Given the description of an element on the screen output the (x, y) to click on. 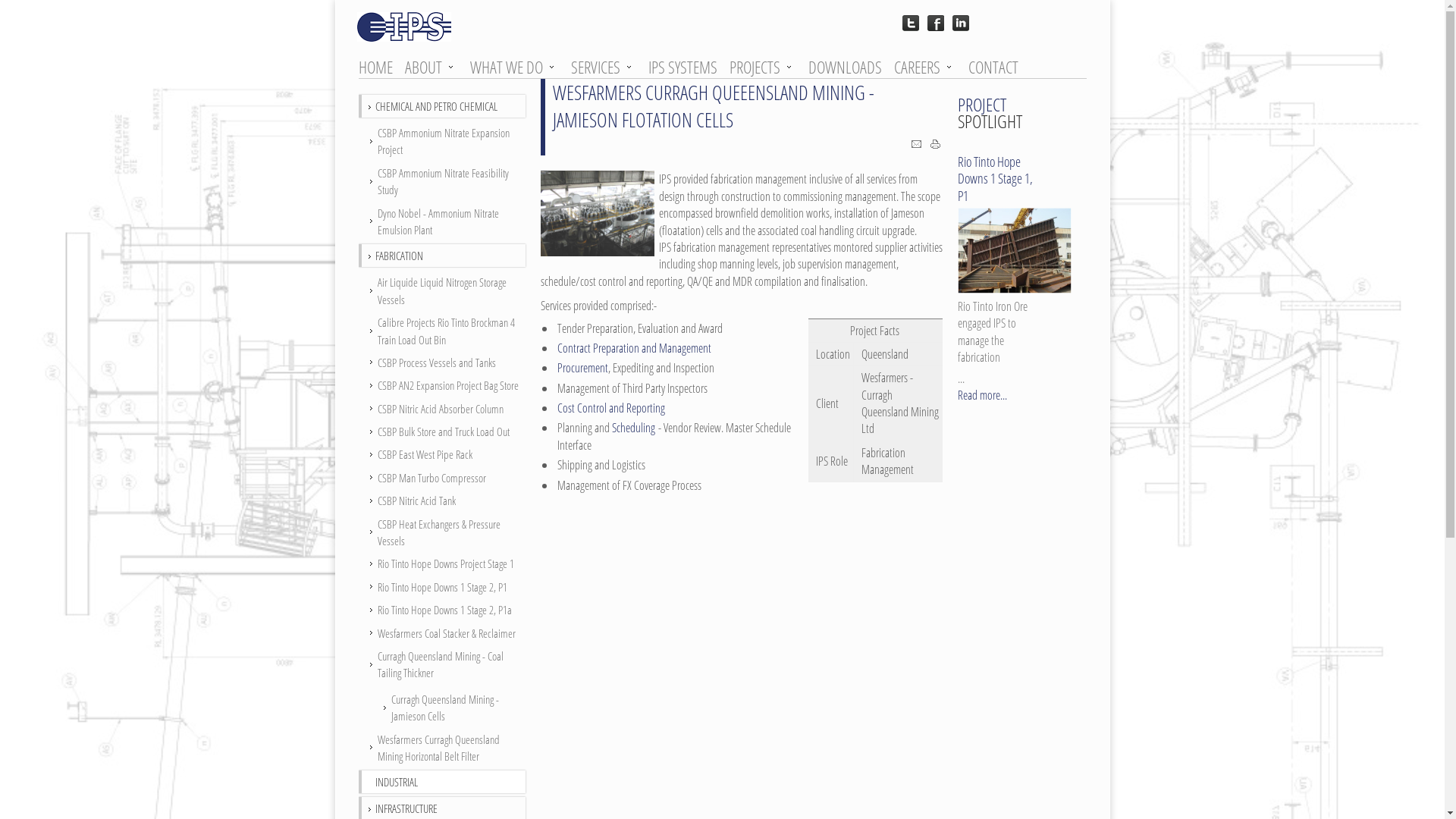
CAREERS Element type: text (923, 66)
Wesfarmers Coal Stacker & Reclaimer Element type: text (442, 632)
FABRICATION Element type: text (398, 254)
CSBP Man Turbo Compressor Element type: text (442, 477)
CSBP Nitric Acid Absorber Column Element type: text (442, 408)
Fabrication Management - Nitrogen Storage Vessels Element type: hover (596, 213)
CSBP East West Pipe Rack Element type: text (442, 453)
CSBP Bulk Store and Truck Load Out Element type: text (442, 431)
Calibre Projects Rio Tinto Brockman 4 Train Load Out Bin Element type: text (442, 330)
CONTACT Element type: text (997, 66)
Air Liquide Liquid Nitrogen Storage Vessels Element type: text (442, 290)
Fabrication Management - Structural and Plate Steelwork Element type: hover (1013, 250)
Curragh Queensland Mining - Jamieson Cells Element type: text (442, 707)
INFRASTRUCTURE Element type: text (405, 807)
DOWNLOADS Element type: text (849, 66)
Rio Tinto Hope Downs Project Stage 1 Element type: text (442, 563)
Curragh Queensland Mining - Coal Tailing Thickner Element type: text (442, 664)
CSBP AN2 Expansion Project Bag Store Element type: text (442, 384)
SERVICES Element type: text (601, 66)
Procurement Element type: text (581, 367)
IPS SYSTEMS Element type: text (686, 66)
Rio Tinto Hope Downs 1 Stage 2, P1 Element type: text (442, 586)
INDUSTRIAL Element type: text (395, 780)
Contract Preparation and Management Element type: text (633, 347)
CHEMICAL AND PETRO CHEMICAL Element type: text (435, 104)
Rio Tinto Hope Downs 1 Stage 1, P1 Element type: text (994, 178)
Read more... Element type: text (981, 394)
Wesfarmers Curragh Queensland Mining Horizontal Belt Filter Element type: text (442, 748)
CSBP Nitric Acid Tank Element type: text (442, 500)
Email Element type: hover (915, 145)
Cost Control and Reporting Element type: text (610, 407)
CSBP Heat Exchangers & Pressure Vessels Element type: text (442, 532)
Rio Tinto Hope Downs 1 Stage 2, P1a Element type: text (442, 609)
HOME Element type: text (379, 66)
Print Element type: hover (935, 145)
Dyno Nobel - Ammonium Nitrate Emulsion Plant Element type: text (442, 221)
Scheduling Element type: text (632, 427)
WHAT WE DO Element type: text (513, 66)
CSBP Process Vessels and Tanks Element type: text (442, 362)
CSBP Ammonium Nitrate Expansion Project Element type: text (442, 141)
CSBP Ammonium Nitrate Feasibility Study Element type: text (442, 181)
ABOUT Element type: text (429, 66)
PROJECTS Element type: text (761, 66)
